Given the description of an element on the screen output the (x, y) to click on. 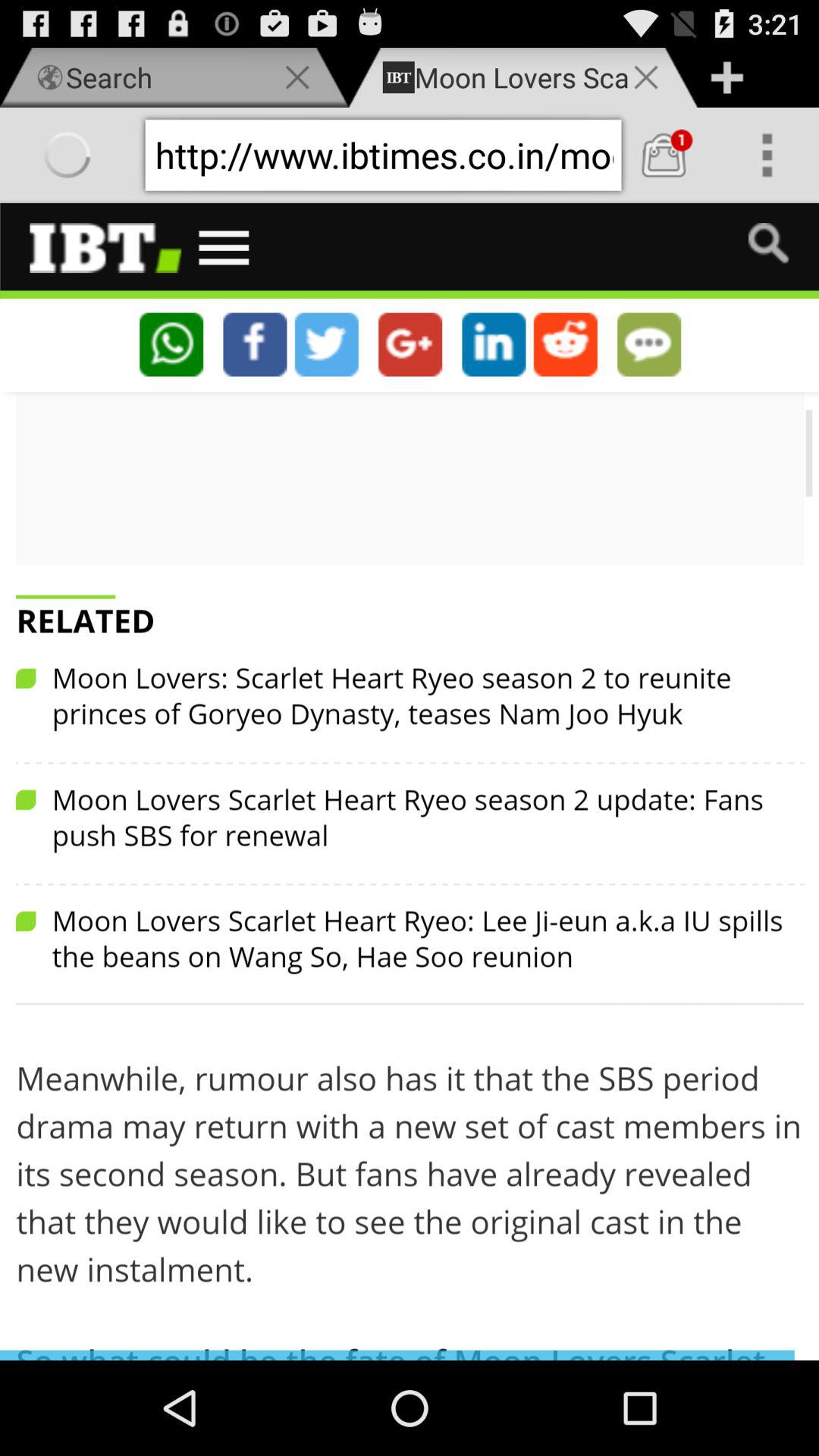
add new tab (727, 77)
